Given the description of an element on the screen output the (x, y) to click on. 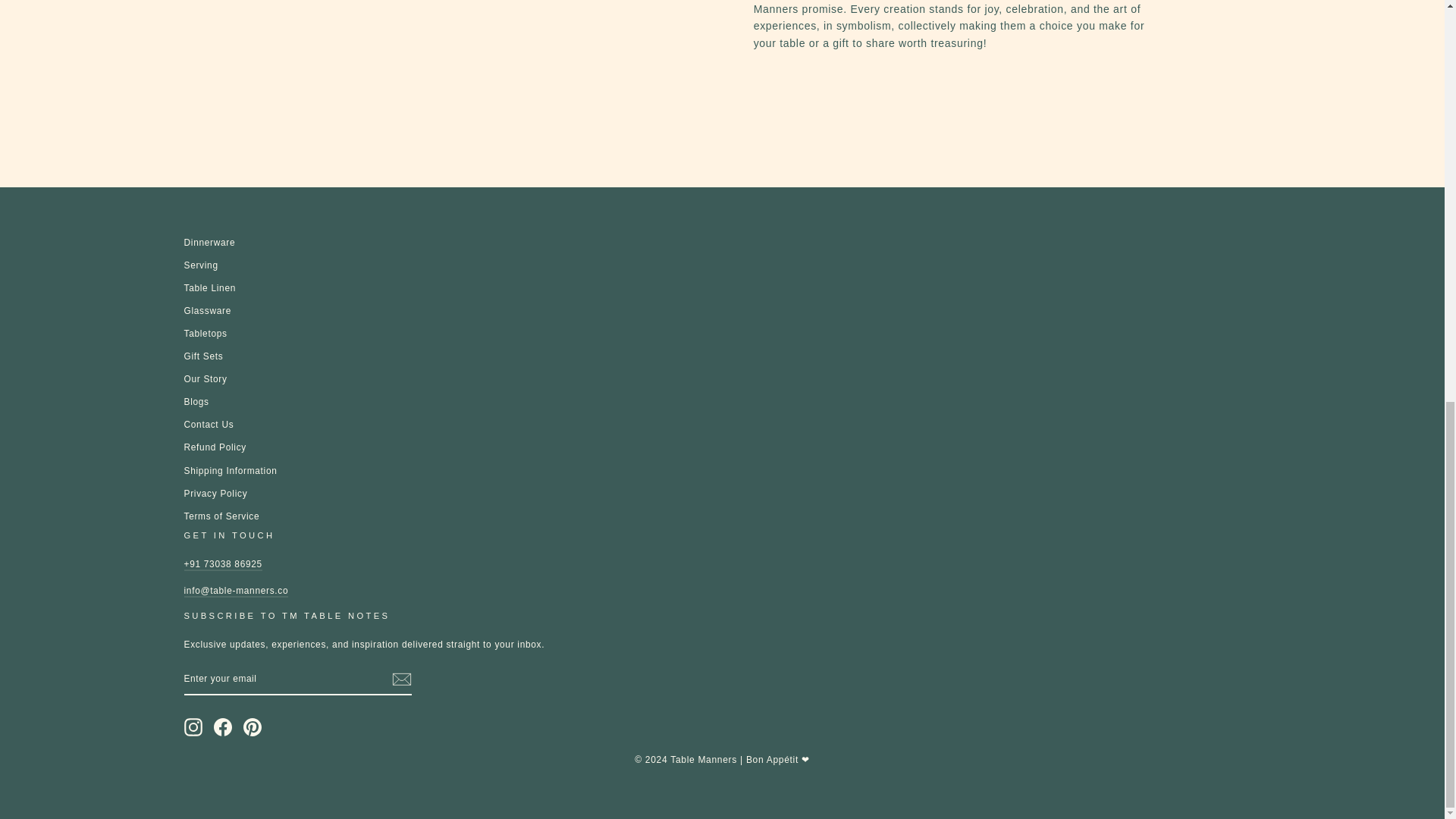
Table Manners on Facebook (222, 727)
Table Manners on Pinterest (251, 727)
Table Manners on Instagram (192, 727)
